Given the description of an element on the screen output the (x, y) to click on. 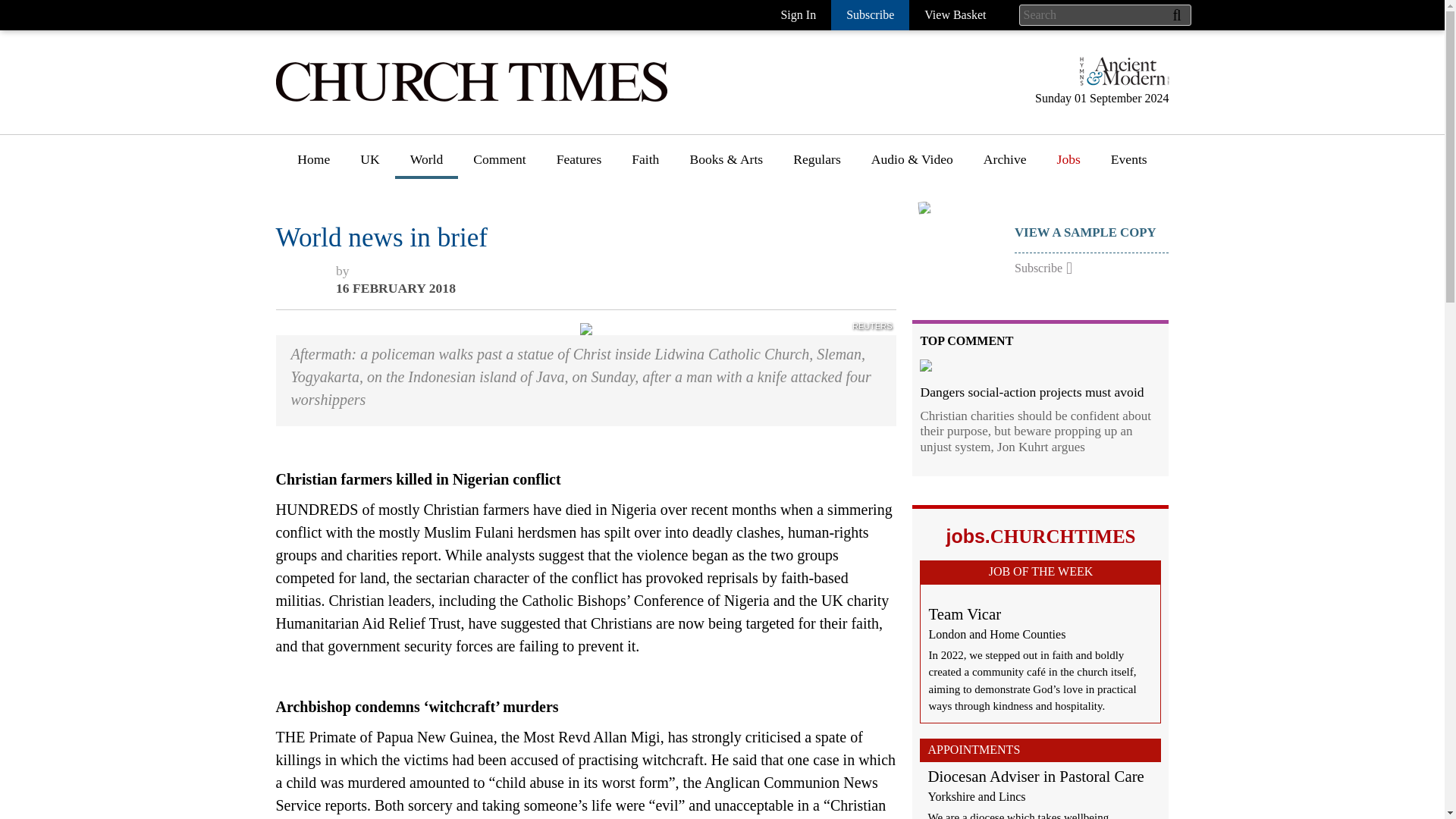
Book club (717, 260)
Opinion (495, 204)
TV (698, 399)
Leader comment (518, 232)
Book reviews (726, 204)
Subscribe (869, 15)
Film (702, 371)
Regulars (816, 164)
Performing arts (731, 343)
Features (580, 204)
